Given the description of an element on the screen output the (x, y) to click on. 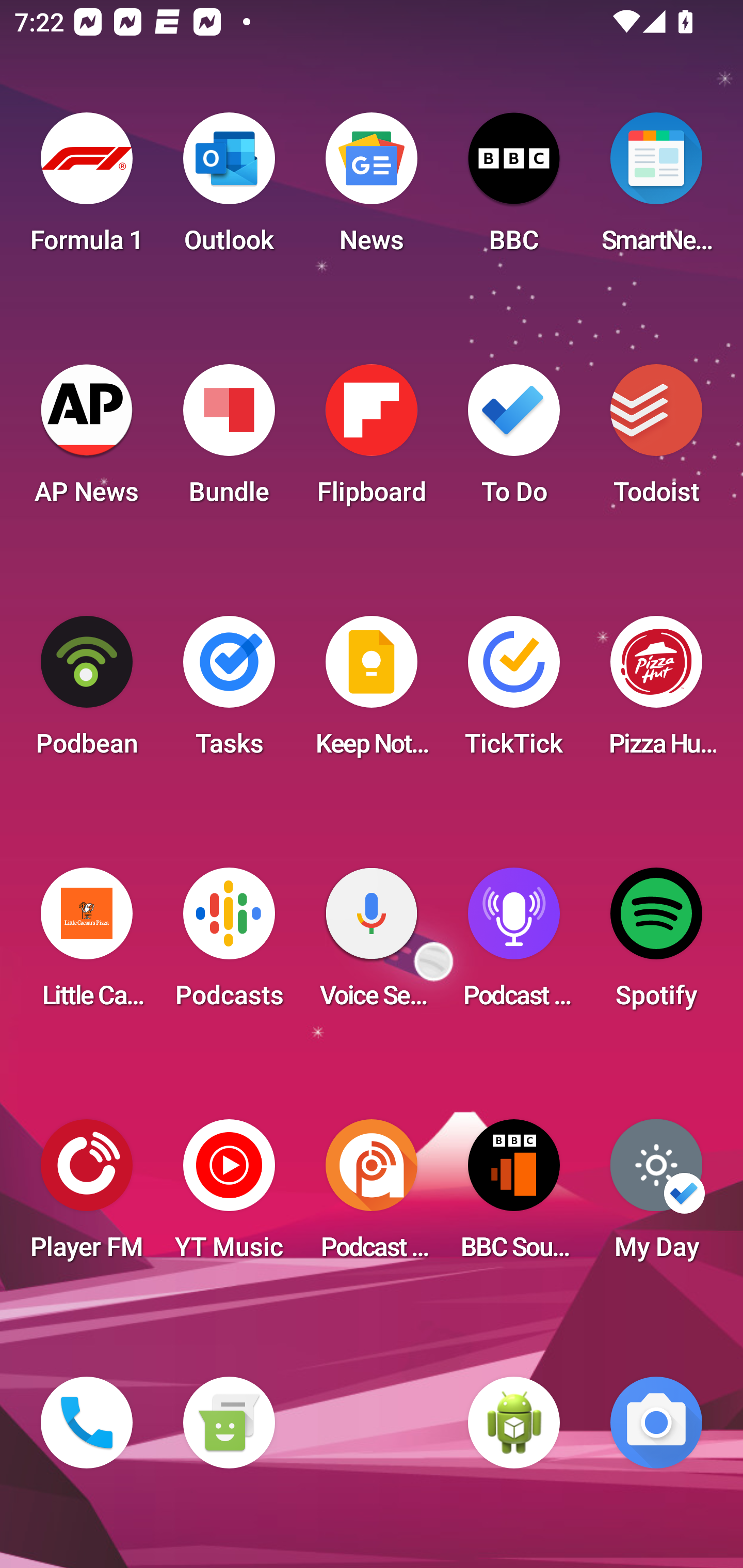
Formula 1 (86, 188)
Outlook (228, 188)
News (371, 188)
BBC (513, 188)
SmartNews (656, 188)
AP News (86, 440)
Bundle (228, 440)
Flipboard (371, 440)
To Do (513, 440)
Todoist (656, 440)
Podbean (86, 692)
Tasks (228, 692)
Keep Notes (371, 692)
TickTick (513, 692)
Pizza Hut HK & Macau (656, 692)
Little Caesars Pizza (86, 943)
Podcasts (228, 943)
Voice Search (371, 943)
Podcast Player (513, 943)
Spotify (656, 943)
Player FM (86, 1195)
YT Music (228, 1195)
Podcast Addict (371, 1195)
BBC Sounds (513, 1195)
My Day (656, 1195)
Phone (86, 1422)
Messaging (228, 1422)
WebView Browser Tester (513, 1422)
Camera (656, 1422)
